Given the description of an element on the screen output the (x, y) to click on. 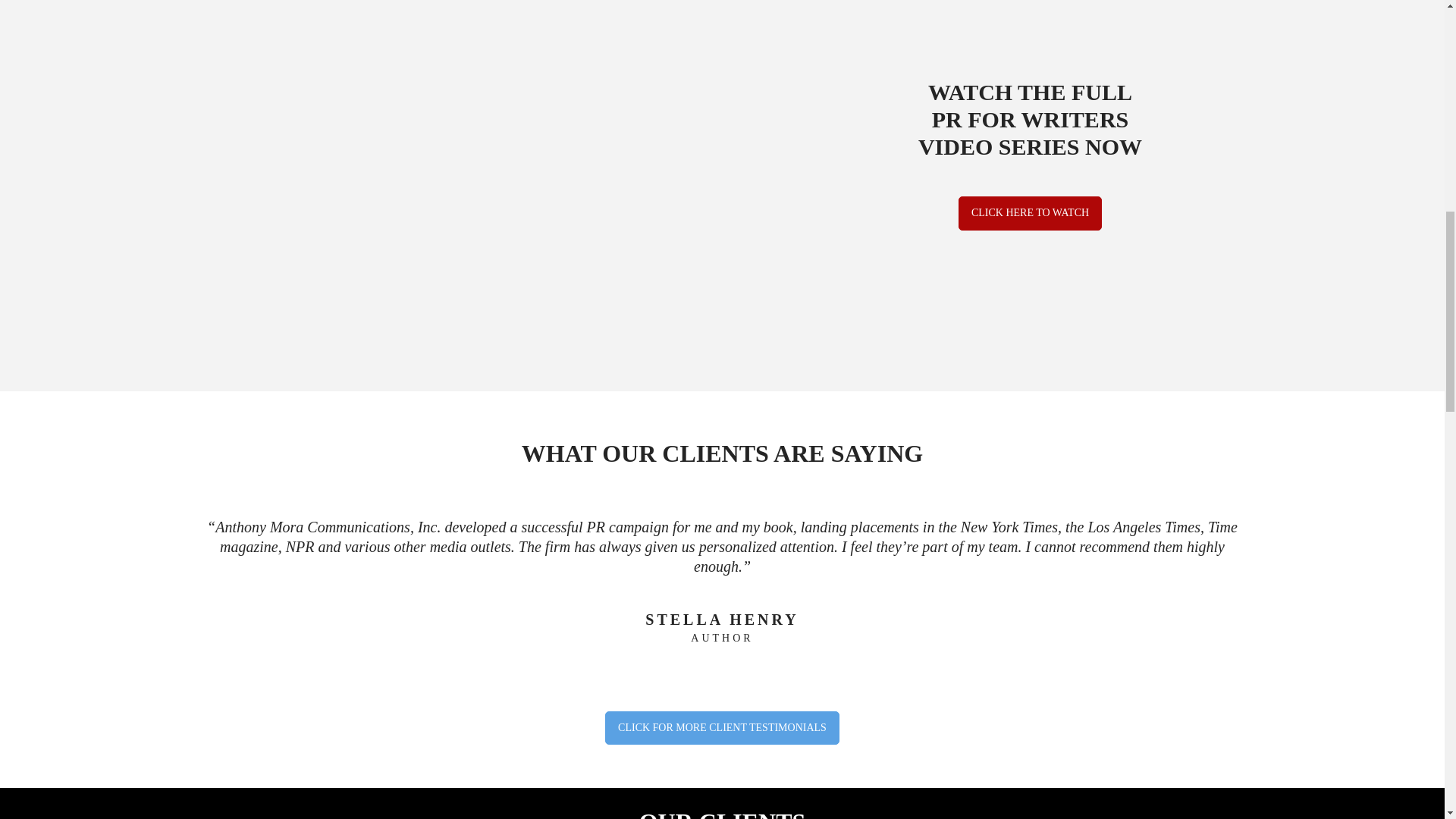
CLICK FOR MORE CLIENT TESTIMONIALS (722, 727)
CLICK HERE TO WATCH (1030, 213)
